Given the description of an element on the screen output the (x, y) to click on. 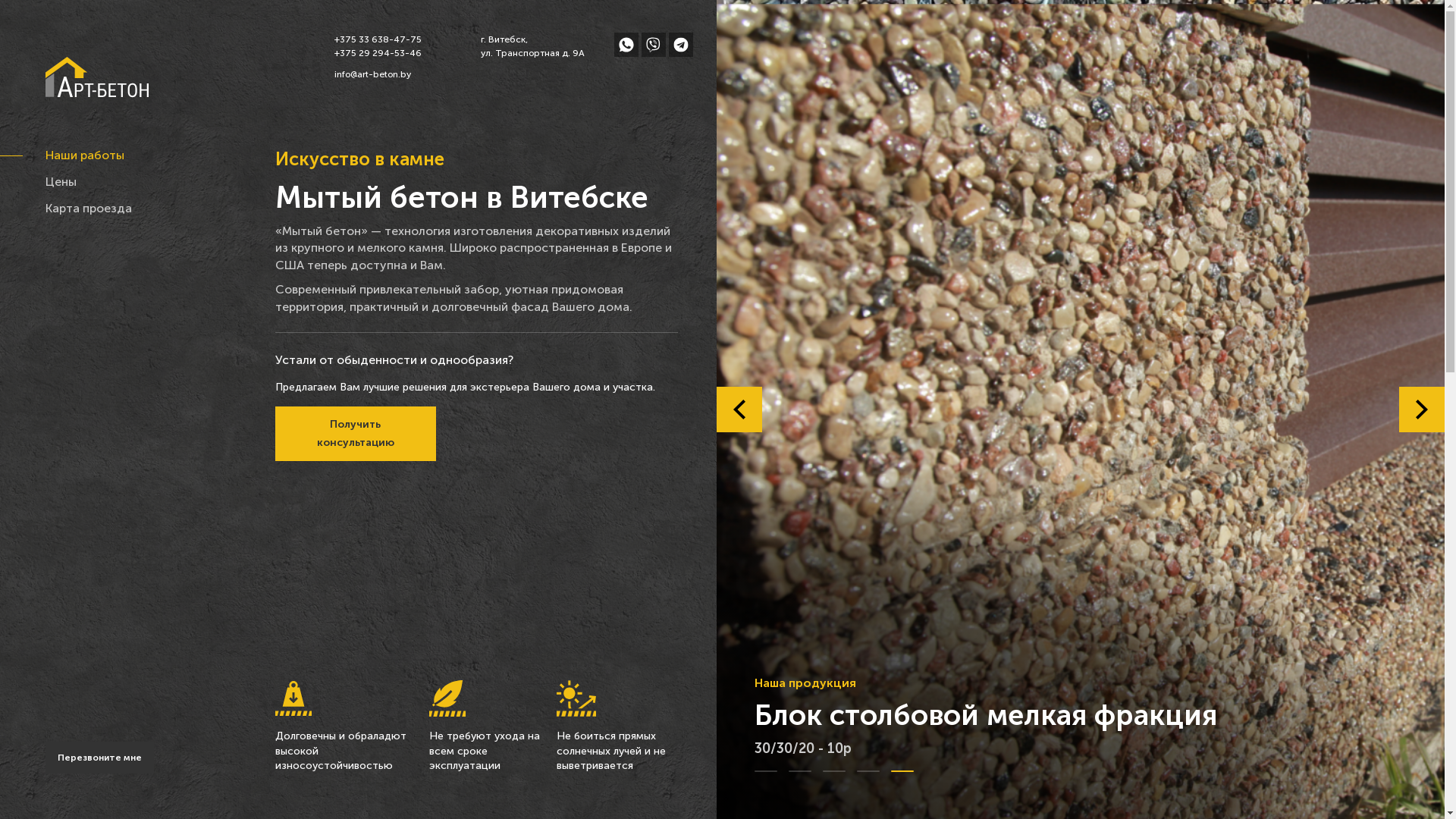
+375 33 638-47-75 Element type: text (376, 39)
info@art-beton.by Element type: text (376, 74)
+375 29 294-53-46 Element type: text (376, 52)
